Given the description of an element on the screen output the (x, y) to click on. 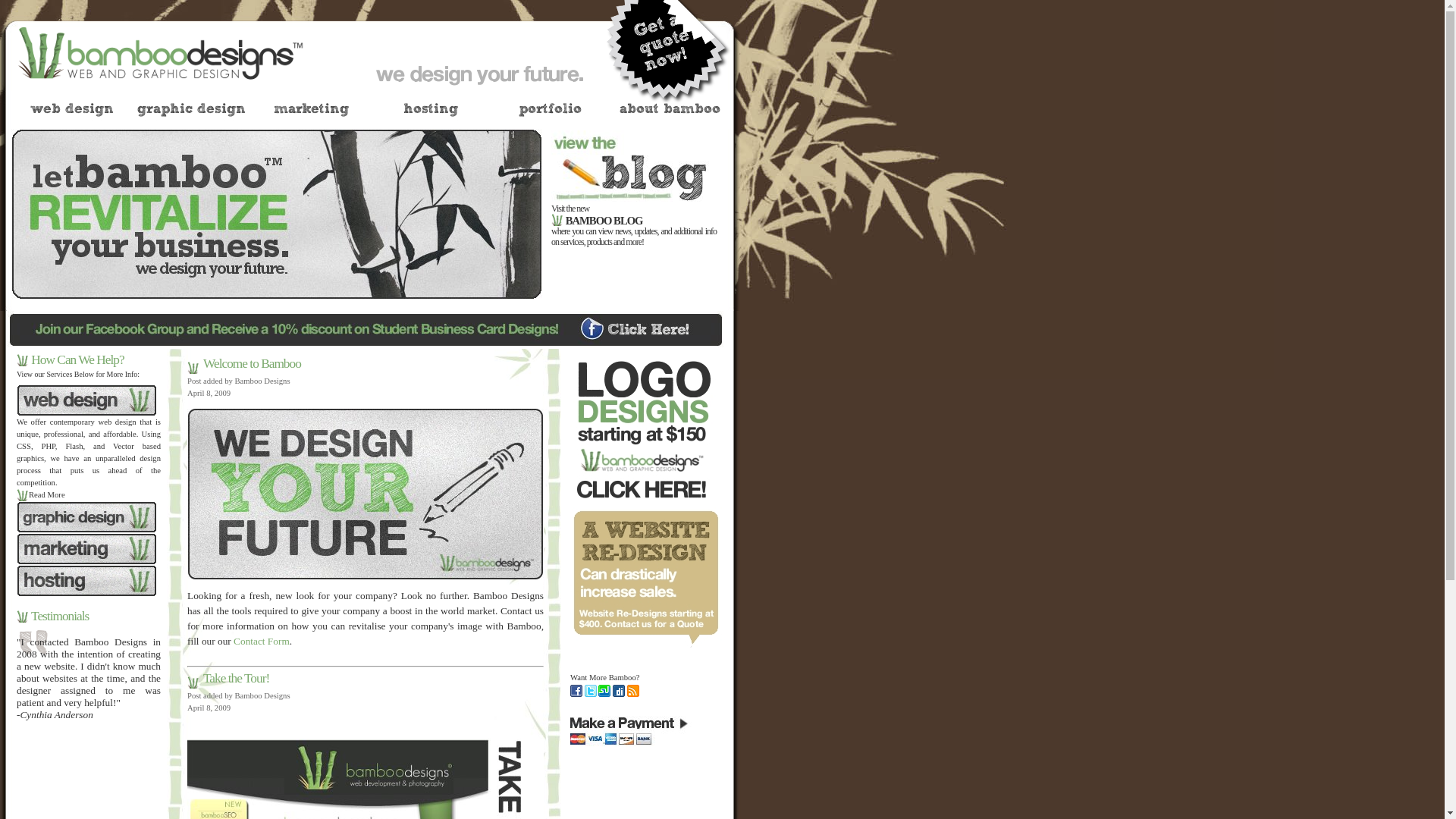
BAMBOO BLOG Element type: text (604, 220)
Read More Element type: text (40, 494)
Contact Form Element type: text (261, 640)
